Given the description of an element on the screen output the (x, y) to click on. 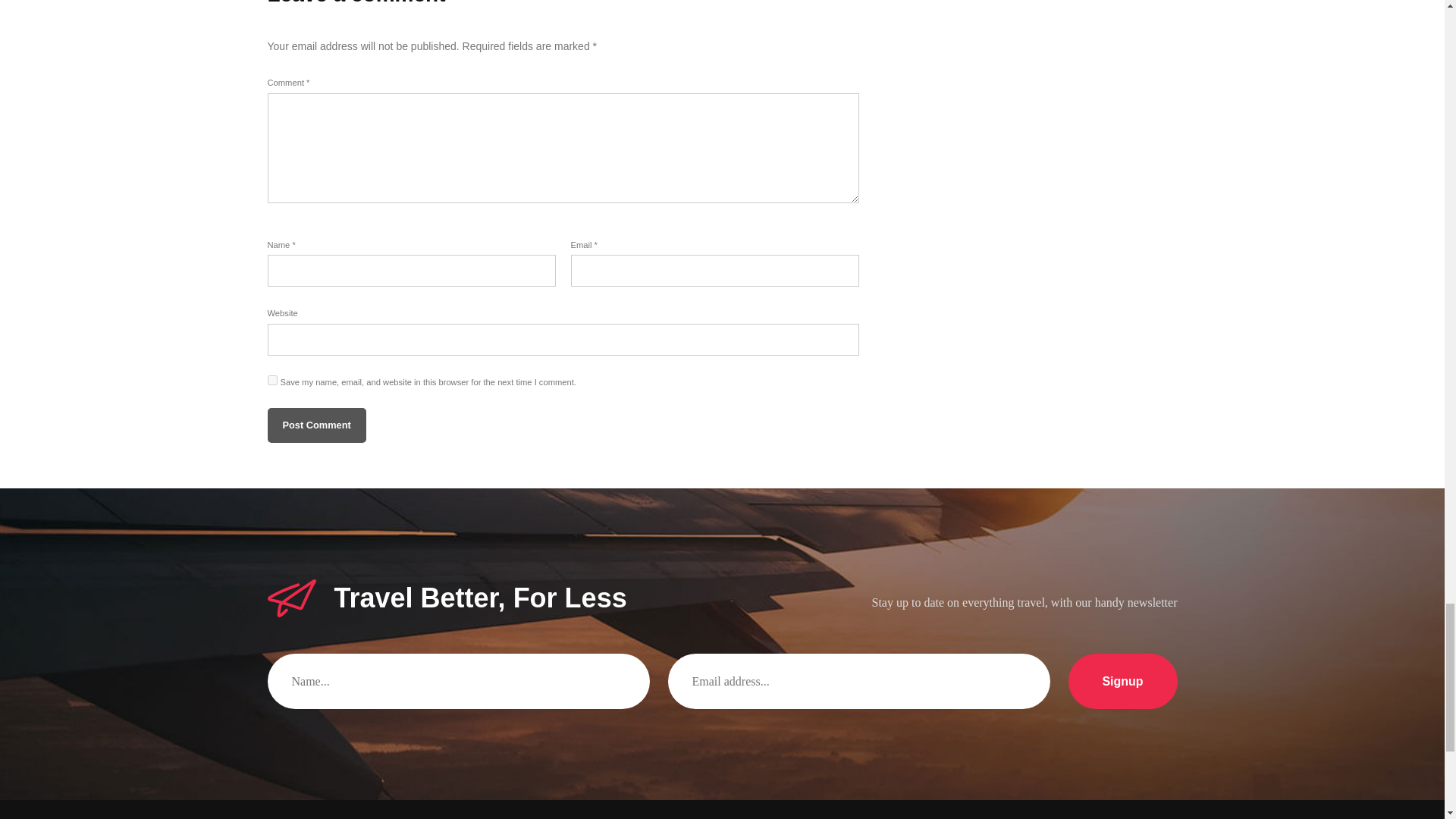
Signup (1121, 681)
yes (271, 379)
Post Comment (315, 425)
